Given the description of an element on the screen output the (x, y) to click on. 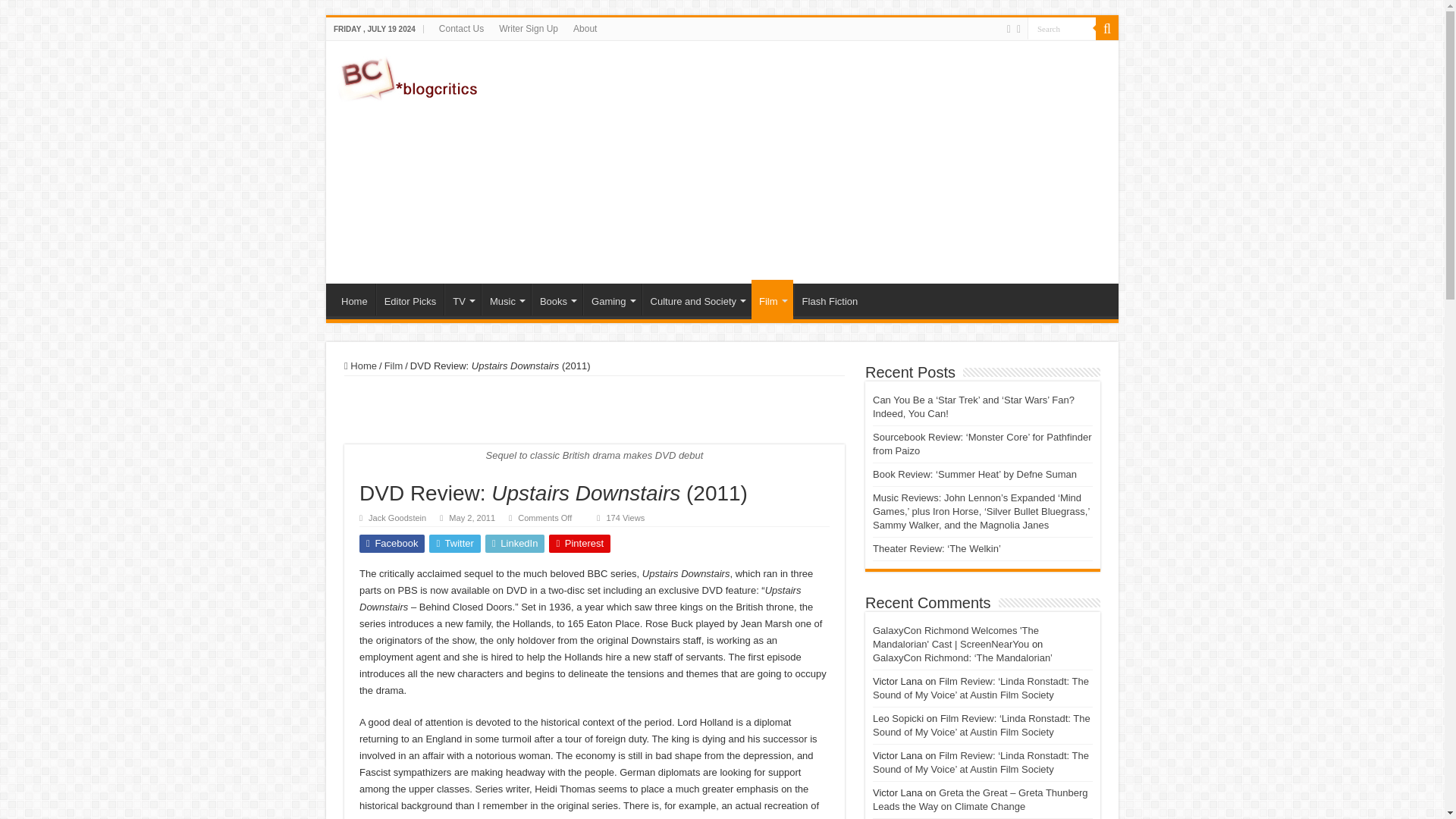
Search (1061, 28)
Search (1061, 28)
Blogcritics (409, 75)
Advertisement (830, 162)
Search (1061, 28)
